Given the description of an element on the screen output the (x, y) to click on. 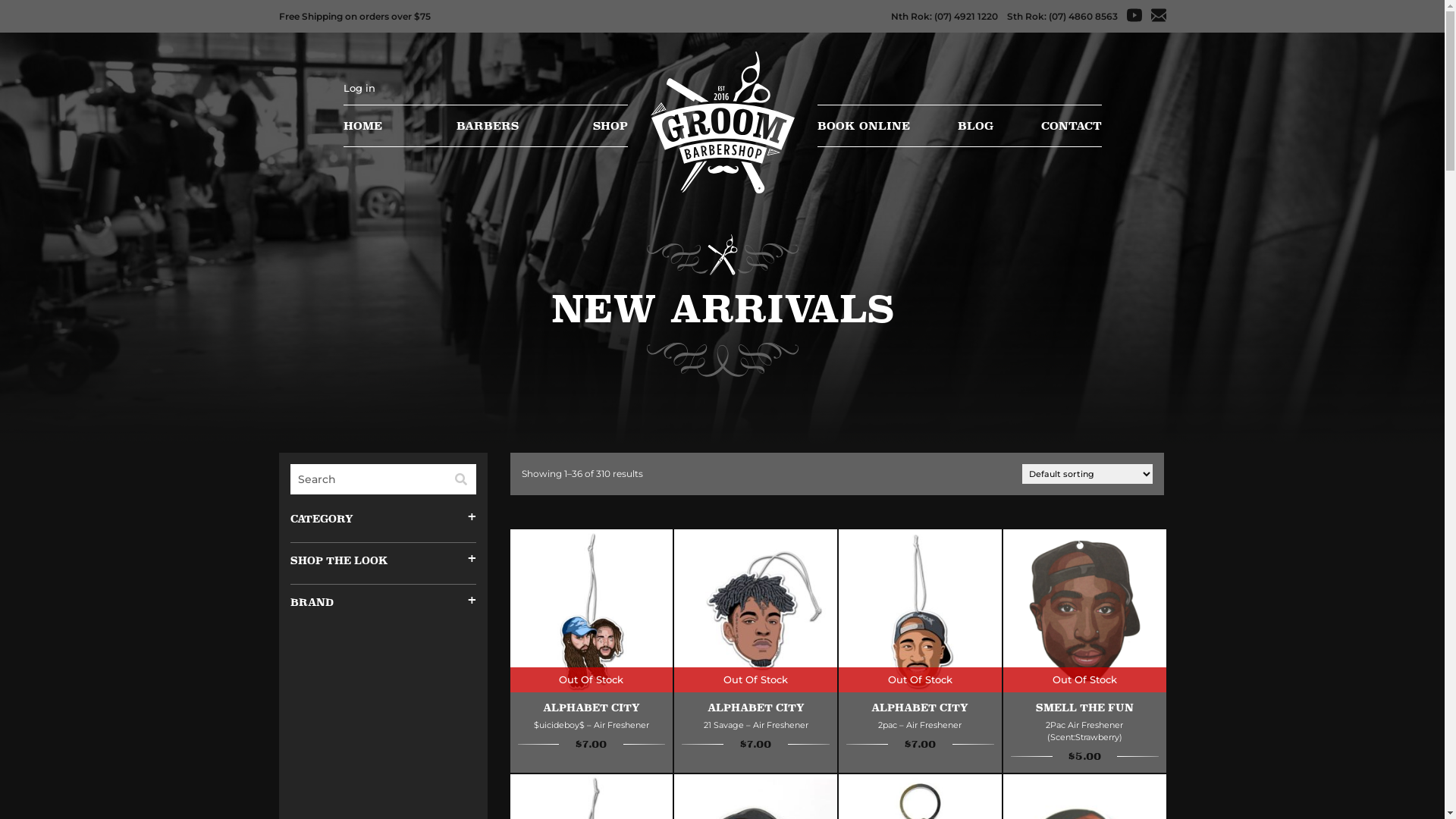
SHOP Element type: text (610, 125)
+ Element type: text (467, 601)
Log in Element type: text (358, 87)
+ Element type: text (467, 559)
+ Element type: text (467, 517)
BLOG Element type: text (974, 125)
SMELL THE FUN
2Pac Air Freshener (Scent:Strawberry)
$5.00 Element type: text (1084, 732)
HOME Element type: text (361, 125)
BOOK ONLINE Element type: text (863, 125)
BARBERS Element type: text (487, 125)
(07) 4860 8563 Element type: text (1082, 15)
(07) 4921 1220 Element type: text (965, 15)
CONTACT Element type: text (1070, 125)
